Given the description of an element on the screen output the (x, y) to click on. 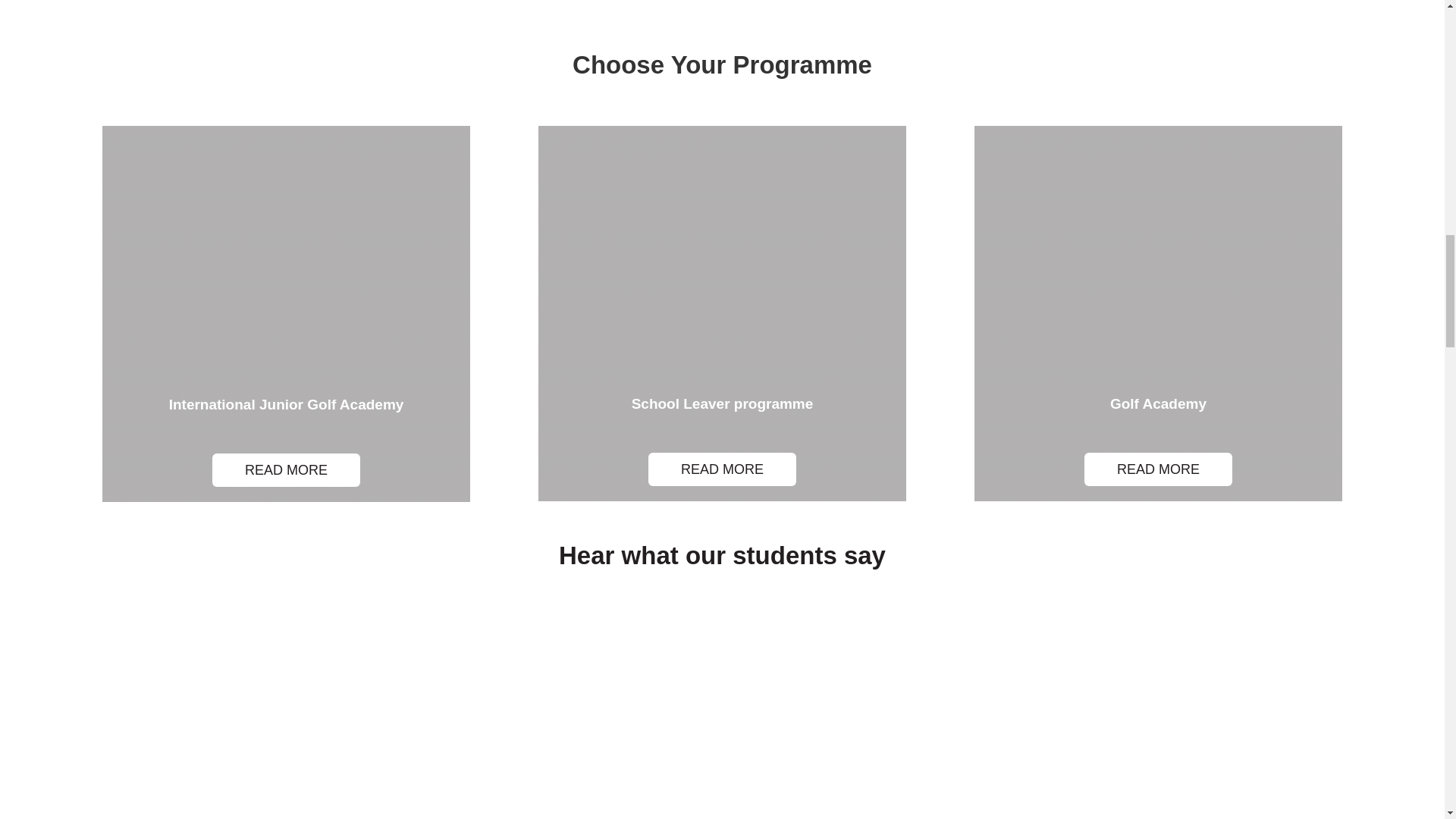
Bramble Hill International Academy (1164, 717)
Bramble Hill International Academy (279, 717)
READ MORE (285, 470)
READ MORE (721, 469)
Bramble Hill International Academy (721, 717)
